Given the description of an element on the screen output the (x, y) to click on. 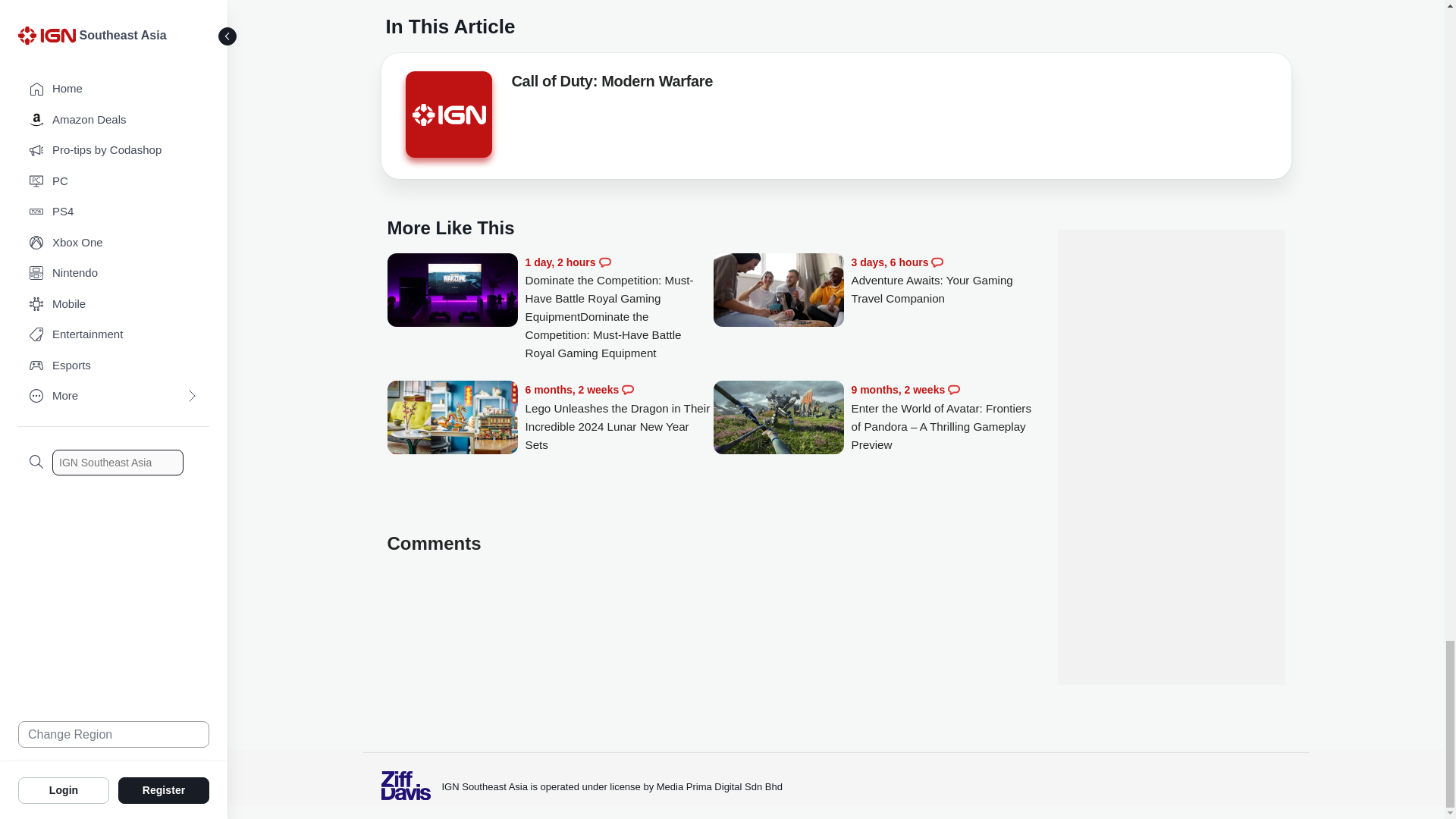
Adventure Awaits: Your Gaming Travel Companion (944, 280)
Call of Duty: Modern Warfare (612, 83)
Adventure Awaits: Your Gaming Travel Companion (778, 291)
Comments (937, 262)
Comments (604, 262)
Comments (627, 389)
Call of Duty: Modern Warfare (448, 119)
Call of Duty: Modern Warfare (448, 114)
